Given the description of an element on the screen output the (x, y) to click on. 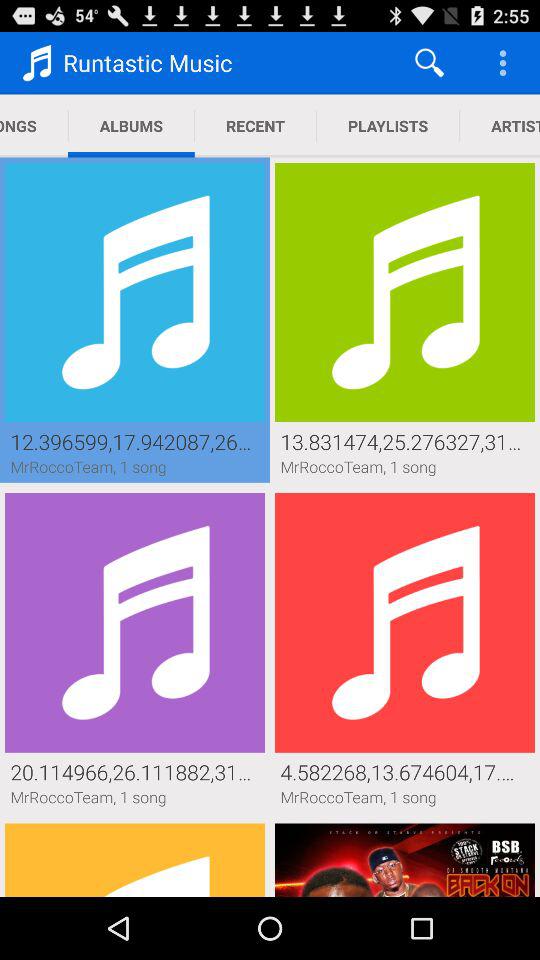
press the songs (34, 125)
